Given the description of an element on the screen output the (x, y) to click on. 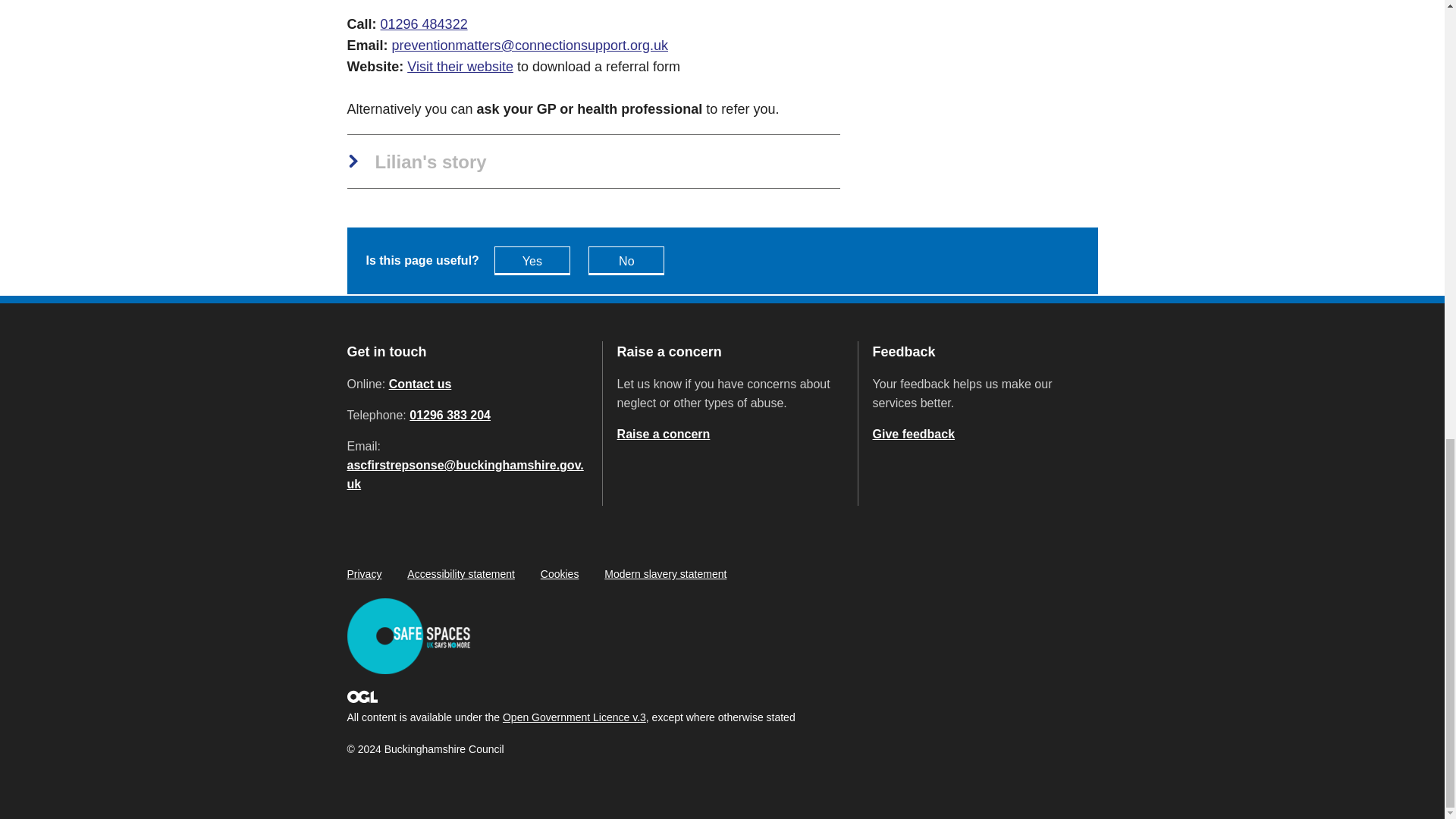
Give feedback (913, 433)
Yes (532, 260)
Visit their website (460, 66)
Privacy (364, 573)
No (625, 260)
Raise a concern (663, 433)
Cookies (559, 573)
Accessibility statement (461, 573)
Modern slavery statement (665, 573)
Lilian's story (416, 162)
